Given the description of an element on the screen output the (x, y) to click on. 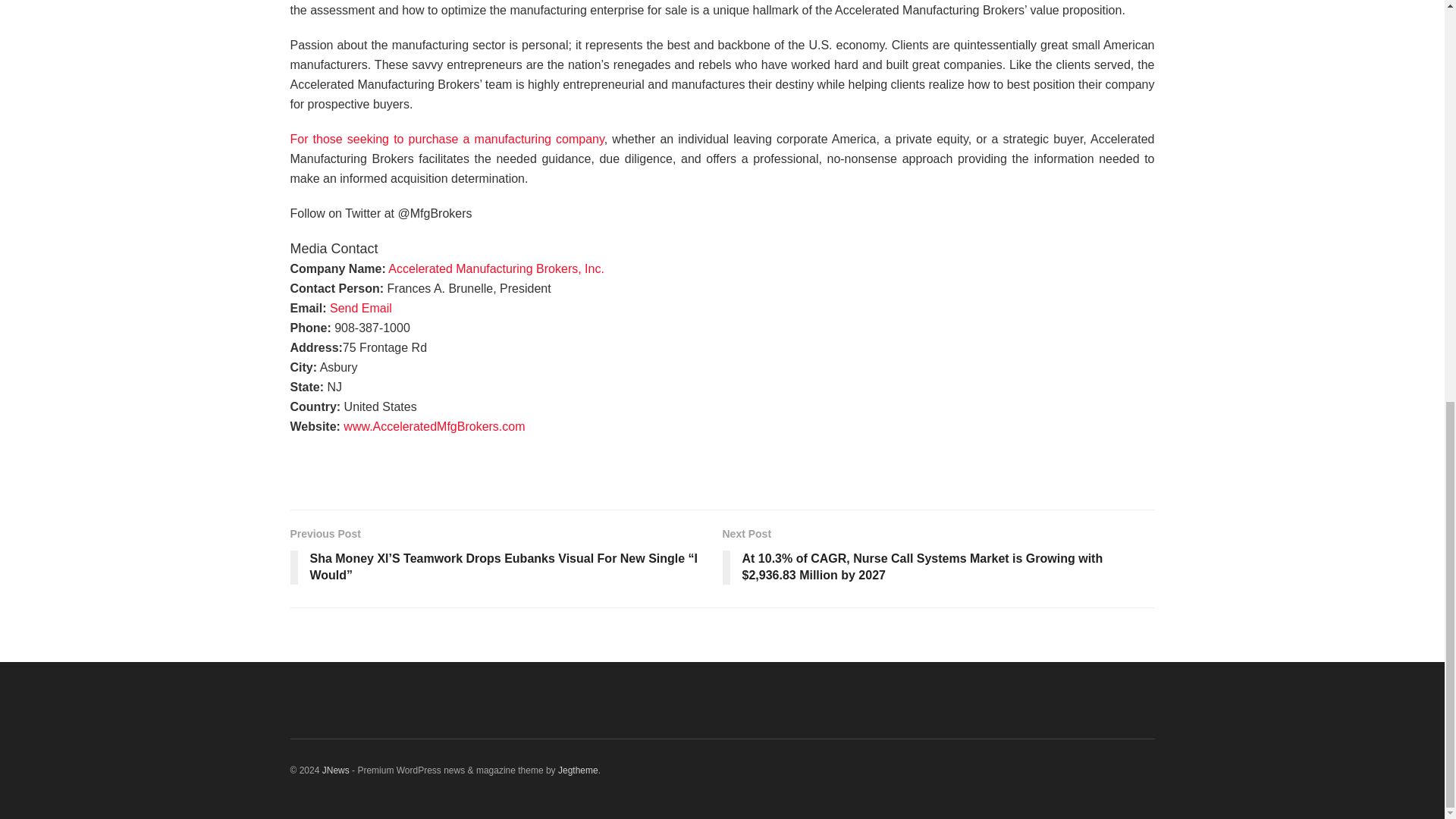
www.AcceleratedMfgBrokers.com (433, 426)
Accelerated Manufacturing Brokers, Inc. (496, 268)
For those seeking to purchase a manufacturing company (446, 138)
JNews (335, 769)
Jegtheme (577, 769)
Send Email (360, 308)
Jegtheme (577, 769)
